Given the description of an element on the screen output the (x, y) to click on. 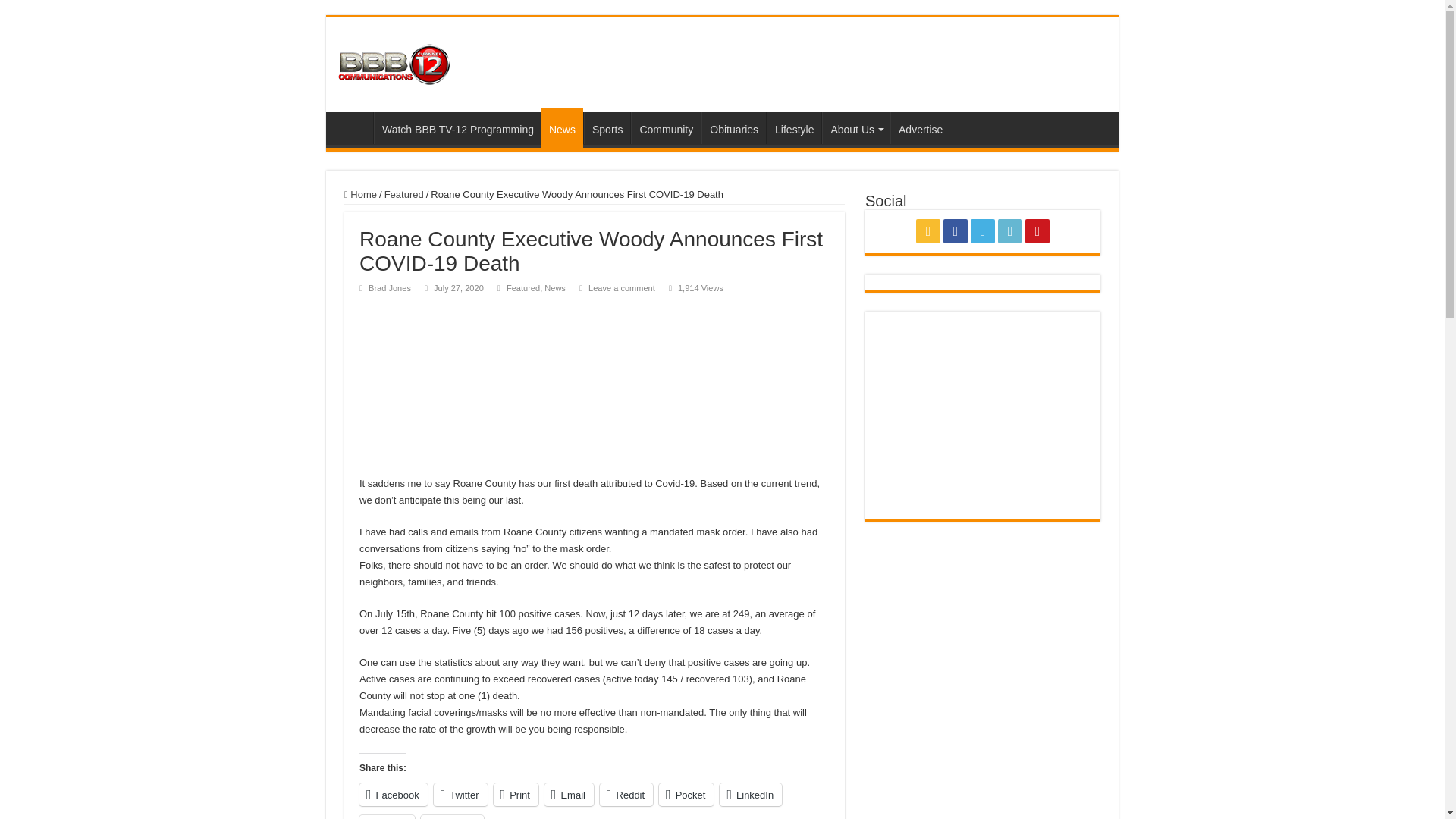
Brad Jones (389, 287)
LinkedIn (750, 793)
Featured (523, 287)
About Us (855, 128)
Leave a comment (621, 287)
Obituaries (733, 128)
Advertise (919, 128)
Facebook (393, 793)
Sports (606, 128)
Click to share on Twitter (460, 793)
